Given the description of an element on the screen output the (x, y) to click on. 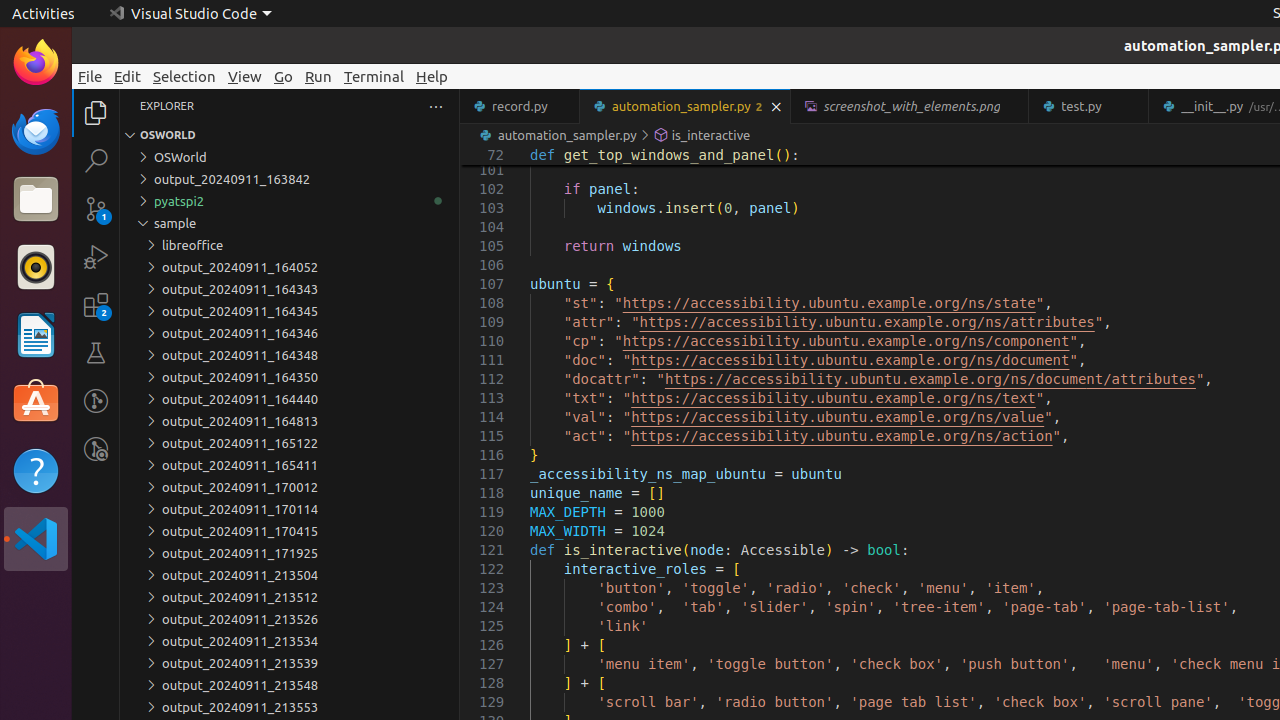
output_20240911_164343 Element type: tree-item (289, 289)
Search (Ctrl+Shift+F) Element type: page-tab (96, 160)
Explorer (Ctrl+Shift+E) Element type: page-tab (96, 113)
Extensions (Ctrl+Shift+X) - 2 require update Element type: page-tab (96, 305)
